Given the description of an element on the screen output the (x, y) to click on. 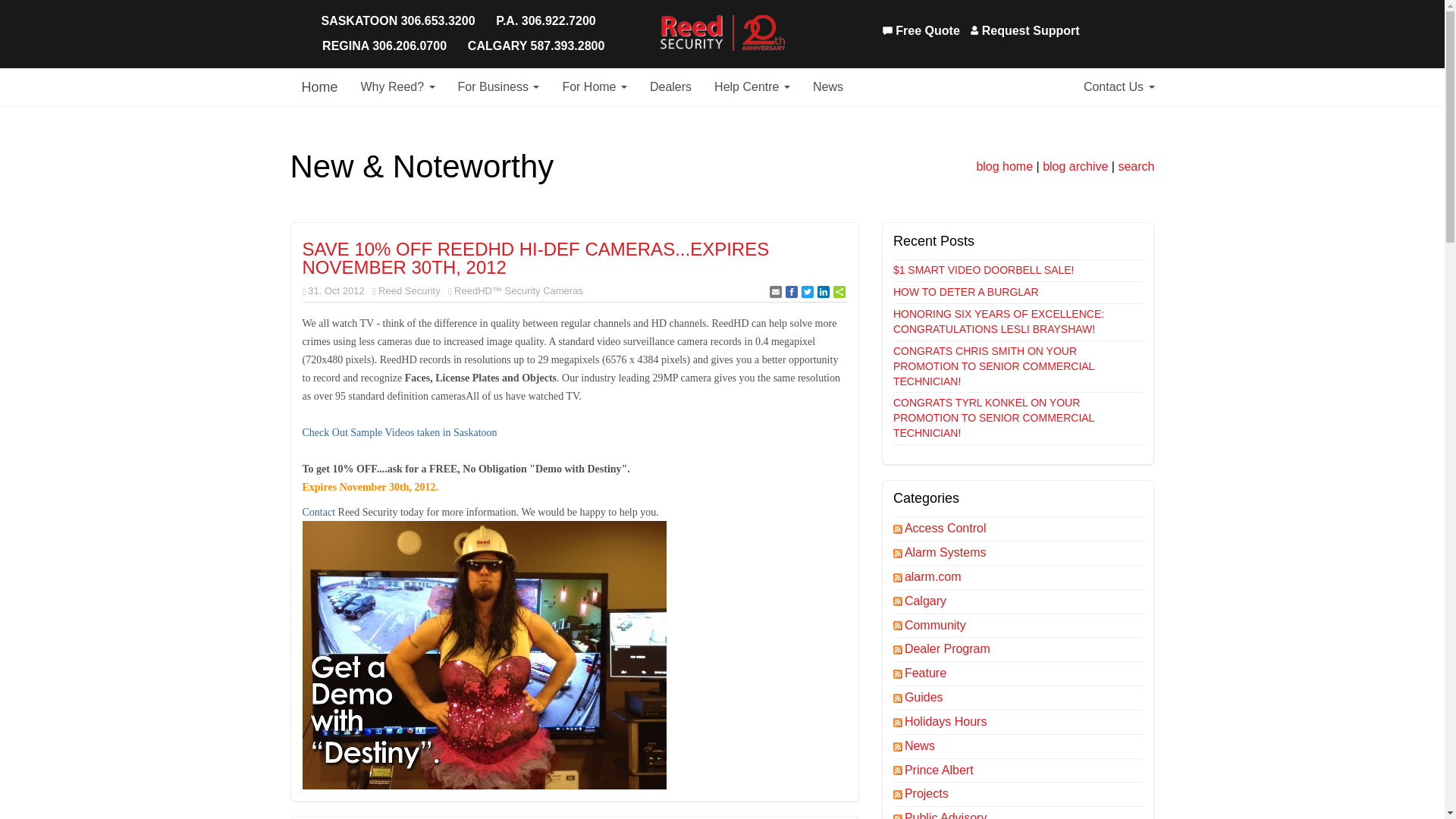
Category: alarm.com (933, 576)
Category: Access Control (946, 527)
REGINA 306.206.0700 (383, 46)
Contact Us (1118, 86)
Free Quote (921, 31)
Home (319, 86)
Category: Community (936, 625)
Dealers (671, 86)
News (828, 86)
CALGARY 587.393.2800 (536, 46)
